Given the description of an element on the screen output the (x, y) to click on. 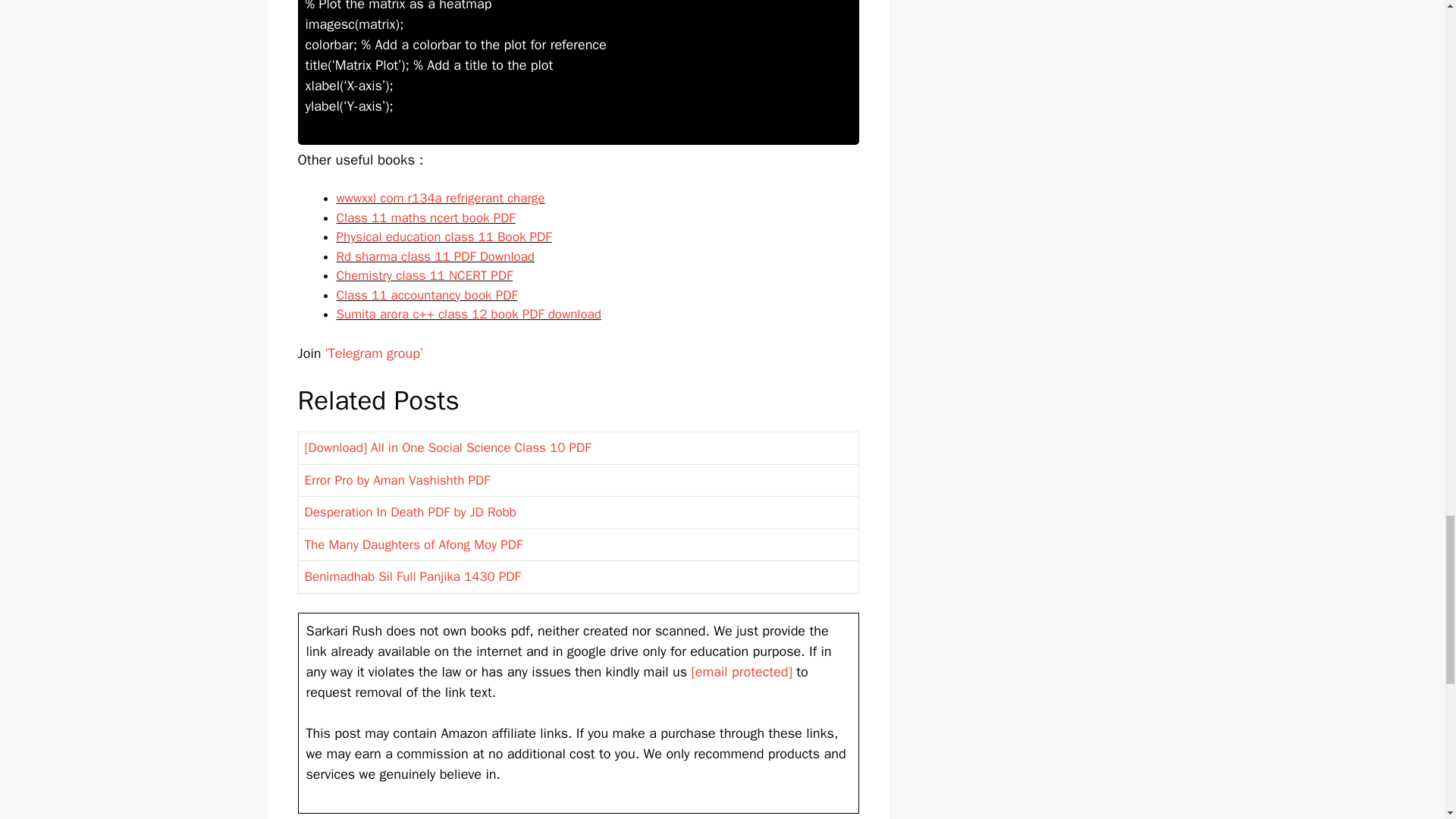
The Many Daughters of Afong Moy PDF (413, 544)
Rd sharma class 11 PDF Download (435, 256)
Class 11 maths ncert book PDF (425, 217)
Class 11 accountancy book PDF (427, 295)
Physical education class 11 Book PDF (443, 236)
wwwxxl com r134a refrigerant charge (440, 198)
Chemistry class 11 NCERT PDF (424, 275)
Error Pro by Aman Vashishth PDF (397, 480)
Benimadhab Sil Full Panjika 1430 PDF (412, 576)
Desperation In Death PDF by JD Robb (410, 512)
